Given the description of an element on the screen output the (x, y) to click on. 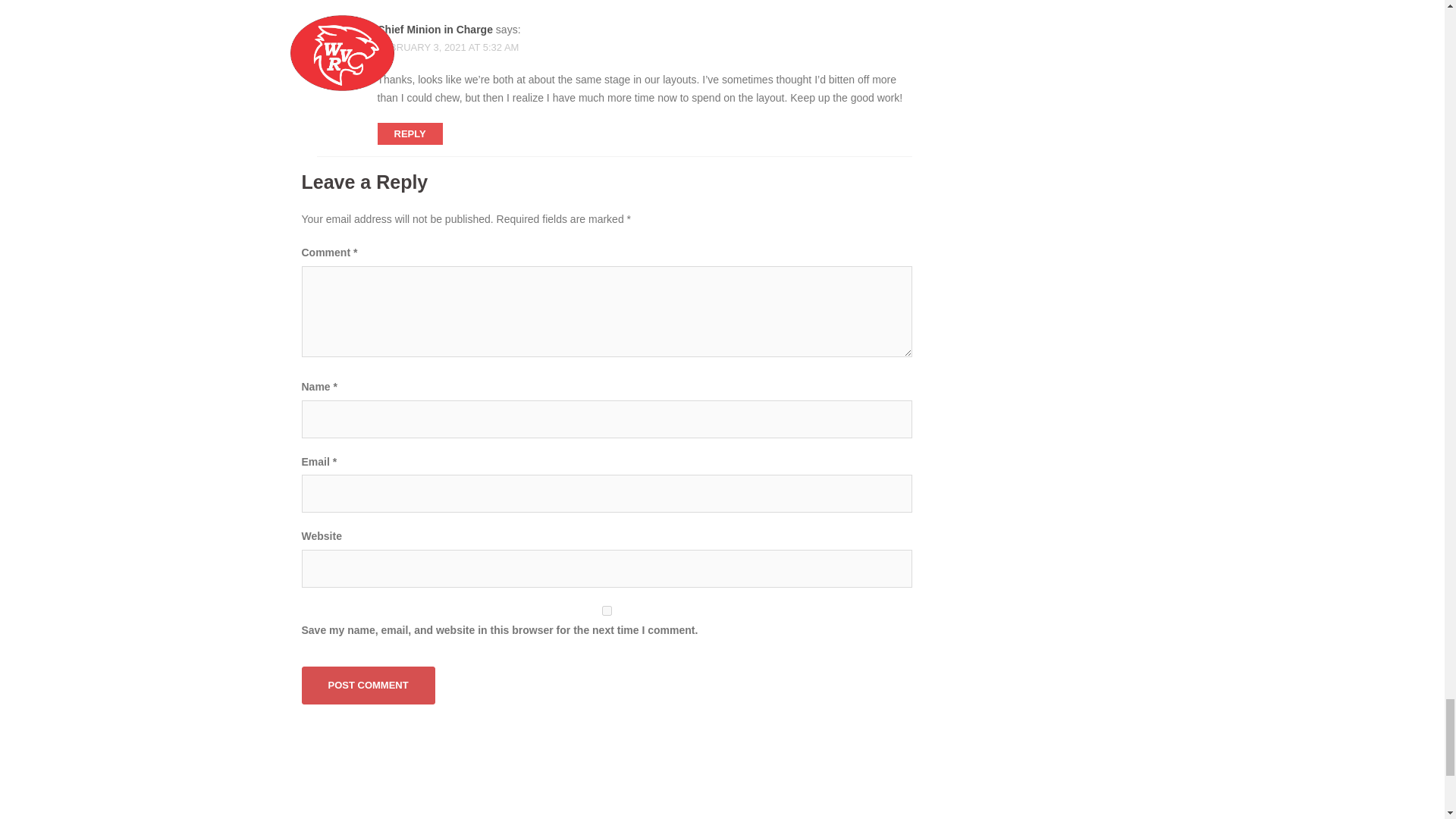
yes (606, 610)
Post Comment (368, 685)
